Given the description of an element on the screen output the (x, y) to click on. 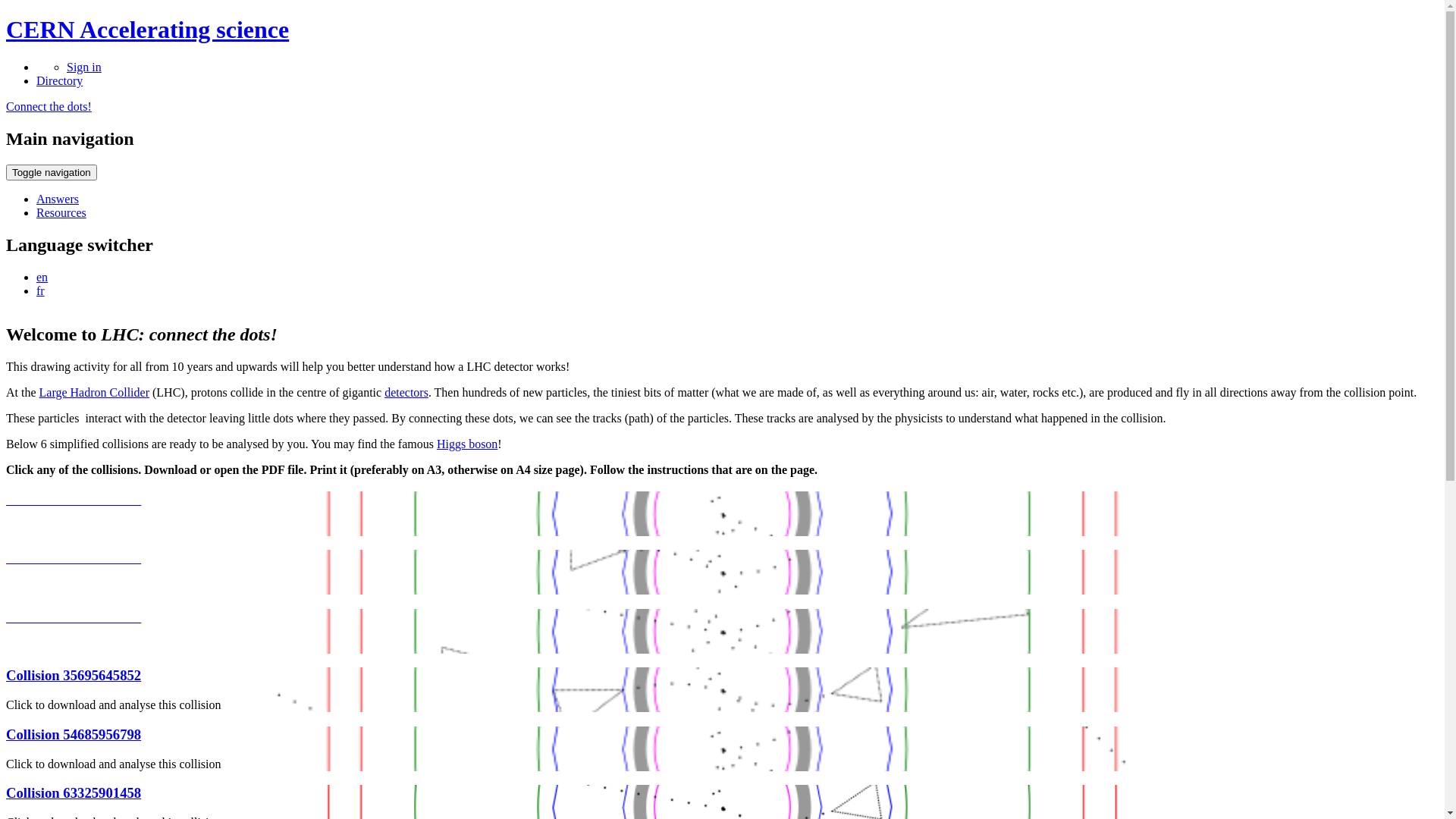
Collision 63325901458 Element type: text (73, 792)
Collision 16853945820 Element type: text (73, 616)
Collision 35695645852 Element type: text (73, 675)
Sign in Element type: text (83, 66)
Skip to main content Element type: text (6, 15)
Resources Element type: text (61, 212)
Directory Element type: text (59, 80)
Collision 54685956798 Element type: text (73, 734)
detectors Element type: text (406, 391)
Large Hadron Collider Element type: text (94, 391)
Higgs boson Element type: text (466, 443)
Answers Element type: text (57, 198)
CERN Accelerating science Element type: text (147, 29)
en Element type: text (41, 275)
Collision 16598568566 Element type: text (73, 557)
Collision 15425874568 Element type: text (73, 499)
fr Element type: text (40, 289)
Toggle navigation Element type: text (51, 172)
Connect the dots! Element type: text (48, 106)
